Given the description of an element on the screen output the (x, y) to click on. 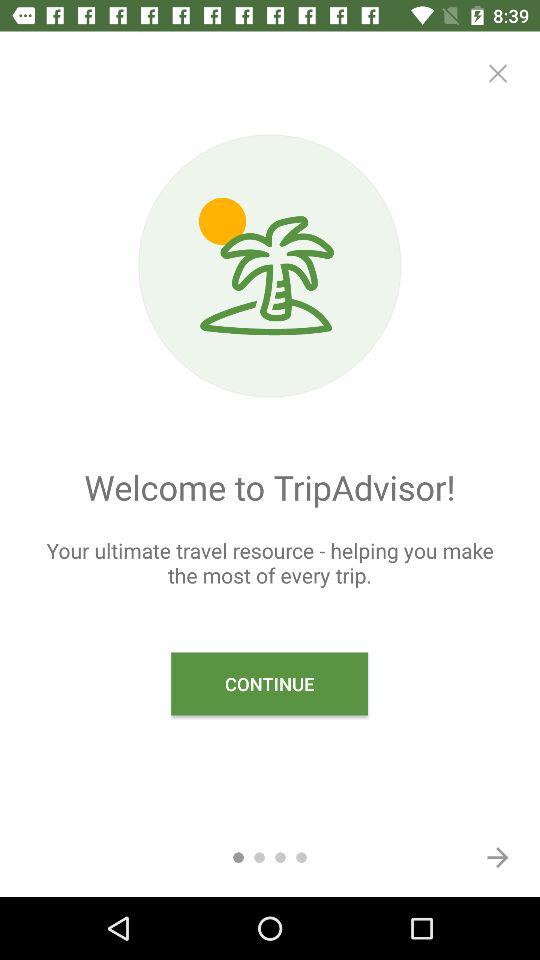
flip to the continue icon (269, 683)
